Given the description of an element on the screen output the (x, y) to click on. 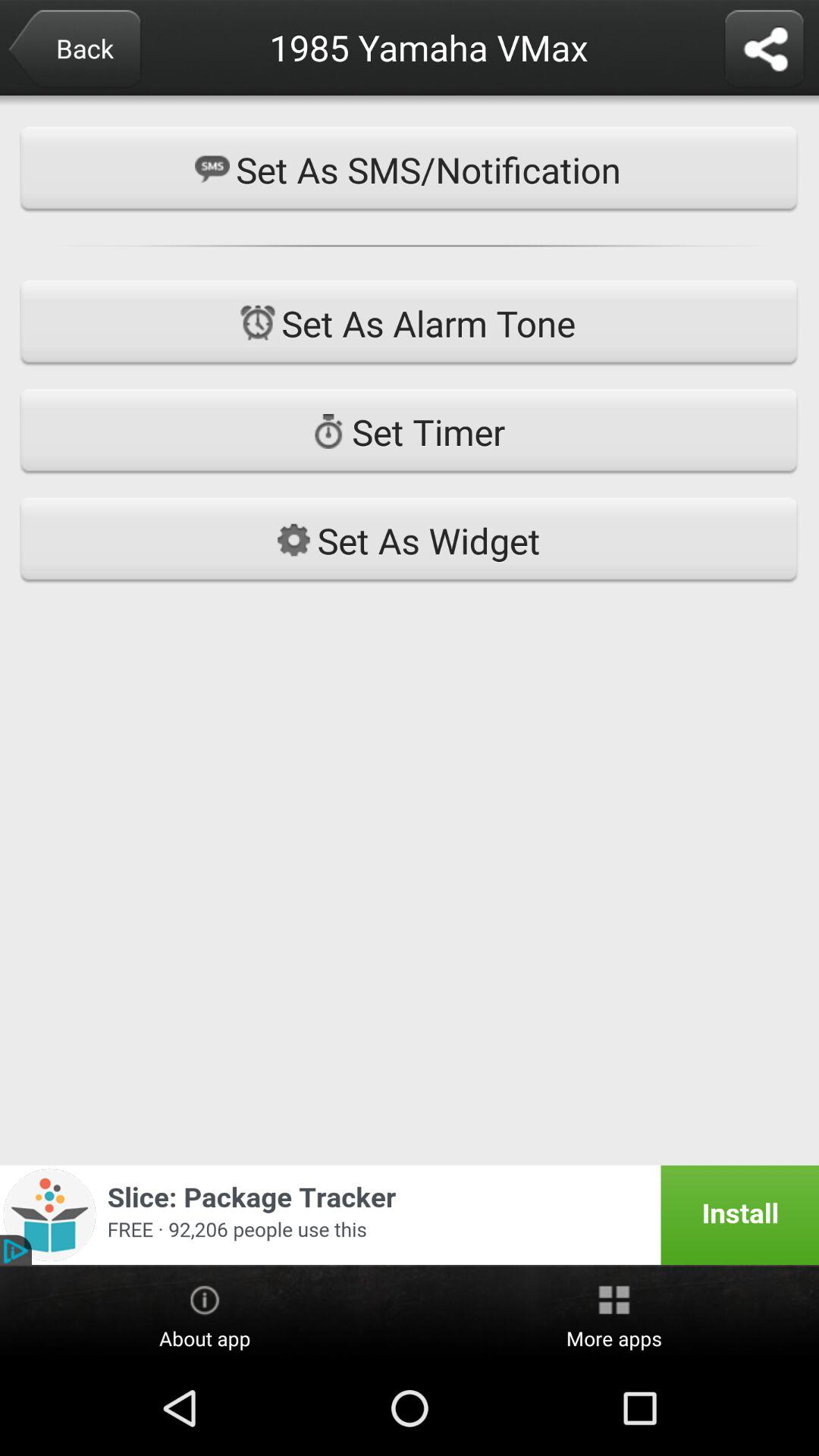
click the more apps item (614, 1314)
